Given the description of an element on the screen output the (x, y) to click on. 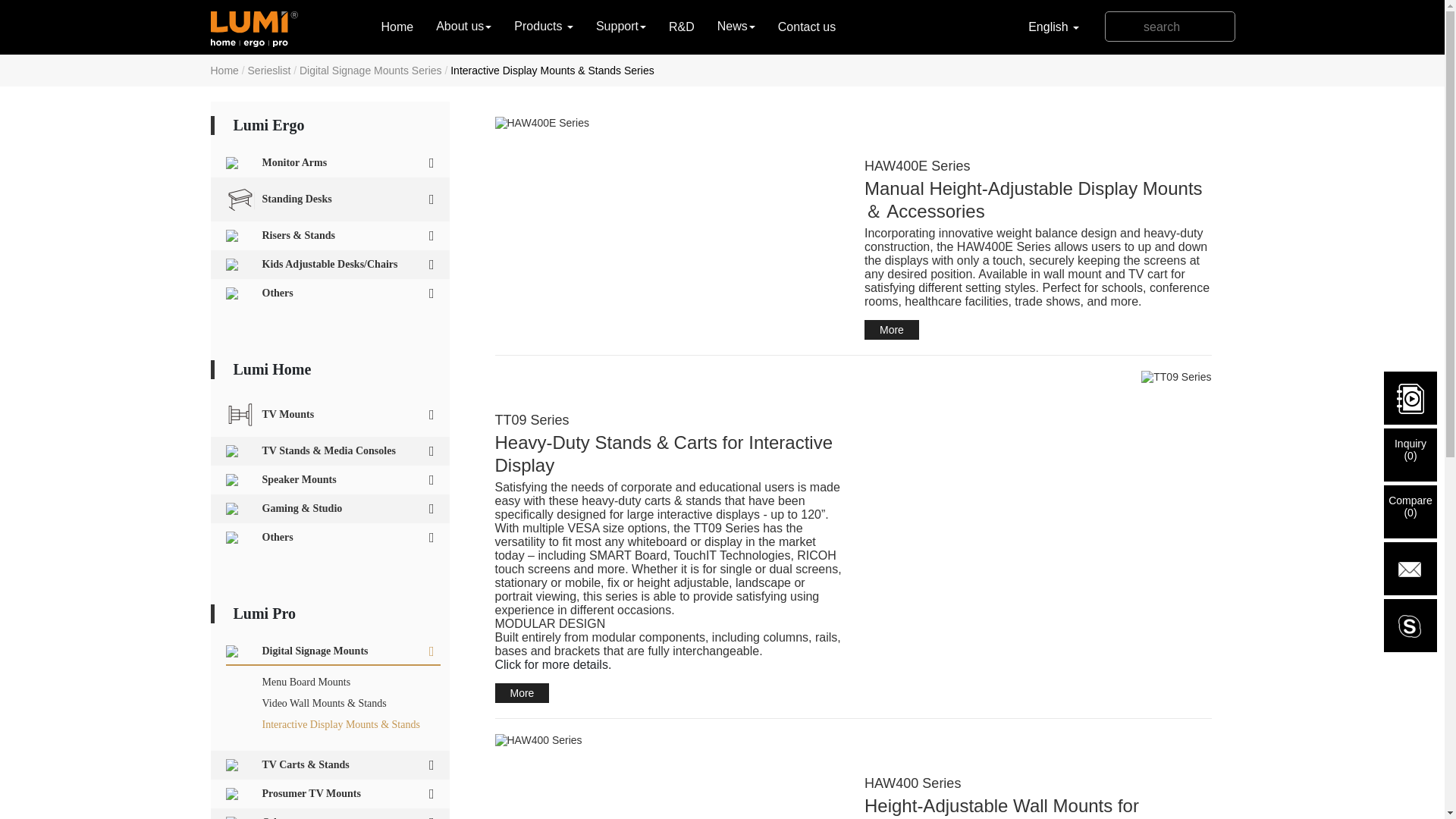
Products (543, 26)
HAW400 Series (668, 739)
TT09 Series (1176, 377)
HAW400E Series (668, 122)
Home (397, 27)
About us (463, 26)
